Given the description of an element on the screen output the (x, y) to click on. 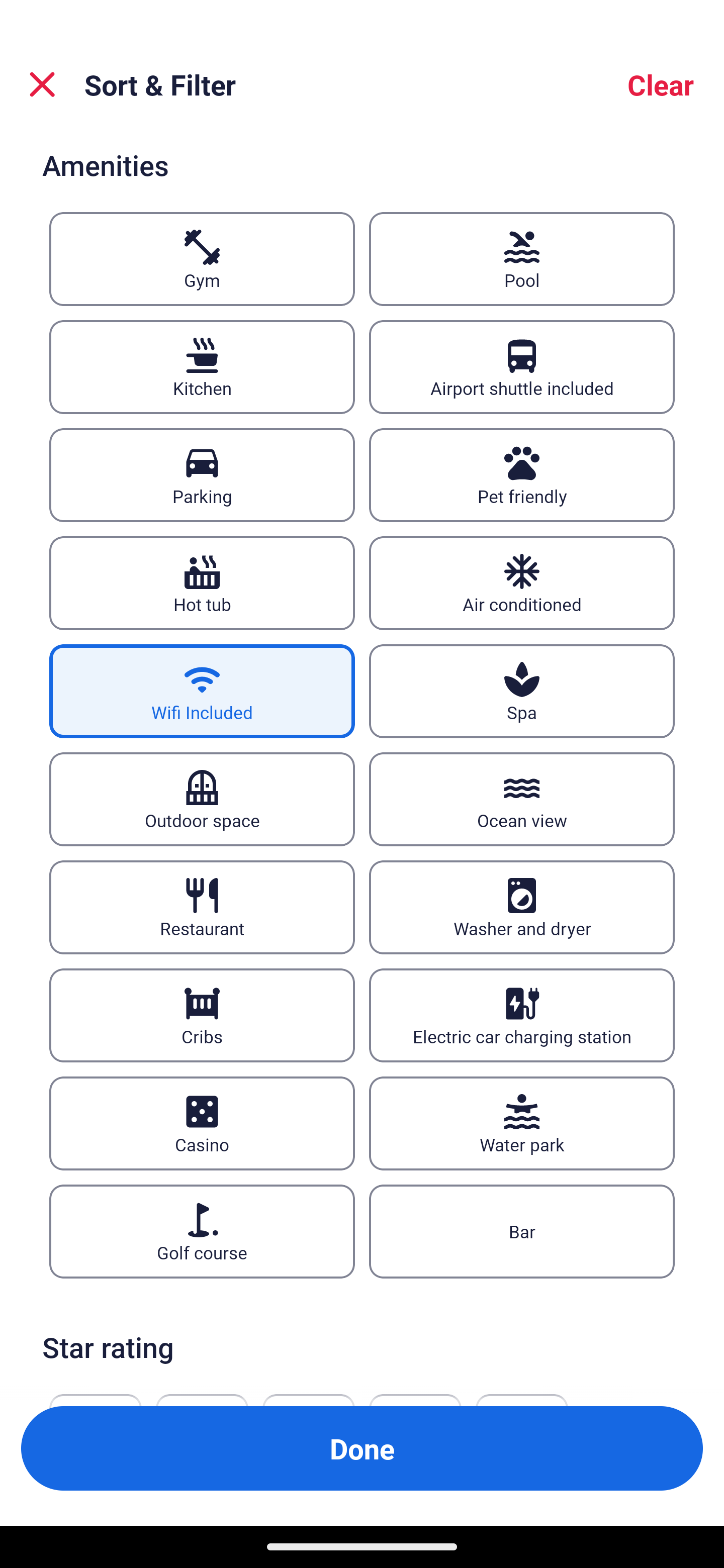
Close Sort and Filter (42, 84)
Clear (660, 84)
Gym (201, 258)
Pool (521, 258)
Kitchen (201, 366)
Airport shuttle included (521, 366)
Parking (201, 475)
Pet friendly (521, 475)
Hot tub (201, 583)
Air conditioned (521, 583)
Wifi Included (201, 691)
Spa (521, 691)
Outdoor space (201, 799)
Ocean view (521, 799)
Restaurant (201, 907)
Washer and dryer (521, 907)
Cribs (201, 1016)
Electric car charging station (521, 1016)
Casino (201, 1123)
Water park (521, 1123)
Golf course (201, 1230)
Bar (521, 1230)
Apply and close Sort and Filter Done (361, 1448)
